Given the description of an element on the screen output the (x, y) to click on. 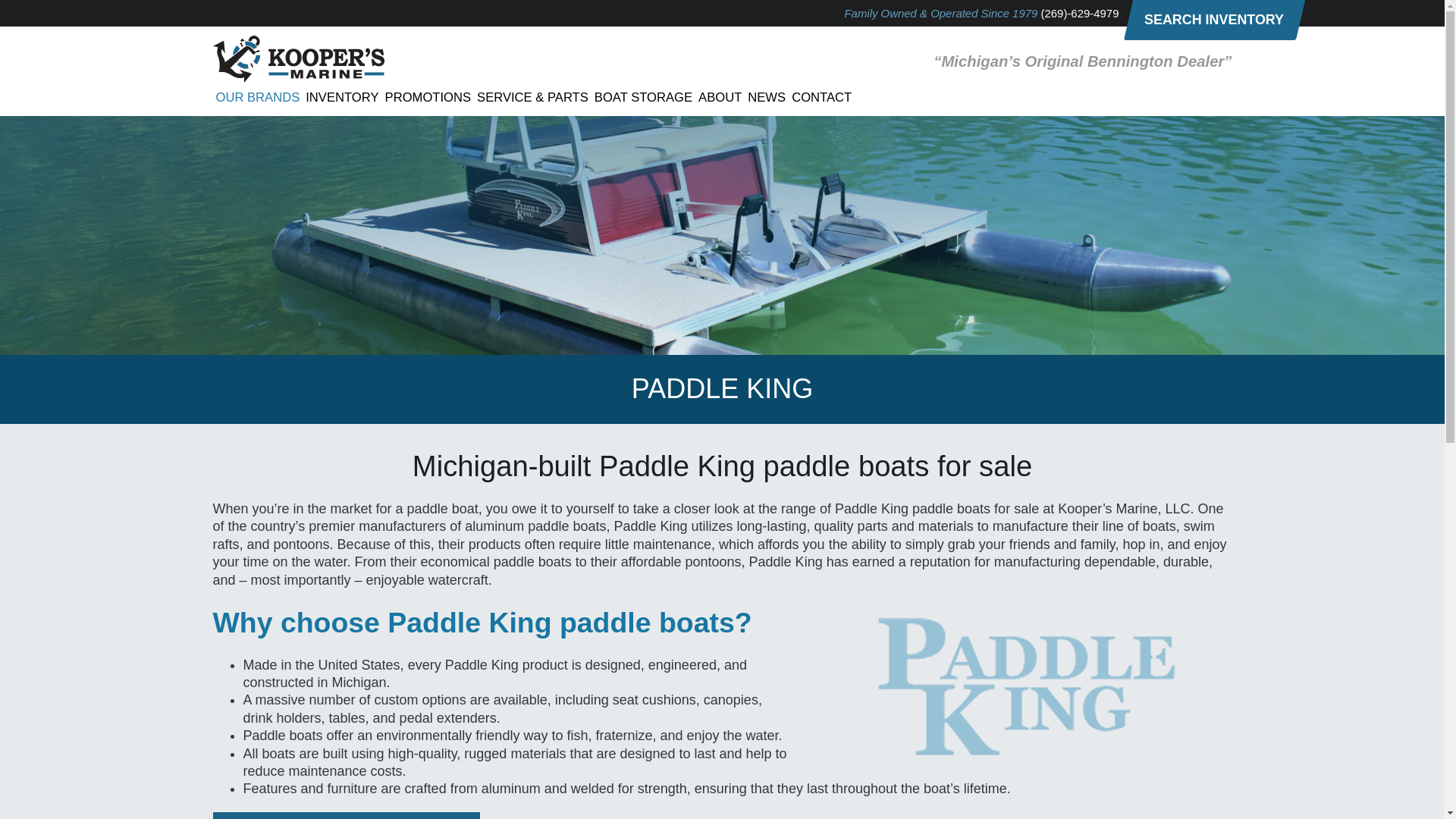
ABOUT (719, 97)
Kooper's Marine, LLC (298, 77)
SEARCH INVENTORY (1208, 20)
INVENTORY (341, 97)
BOAT STORAGE (643, 97)
NEWS (766, 97)
VIEW PADDLE KING INVENTORY (345, 815)
CONTACT (821, 97)
OUR BRANDS (257, 97)
PROMOTIONS (427, 97)
